Given the description of an element on the screen output the (x, y) to click on. 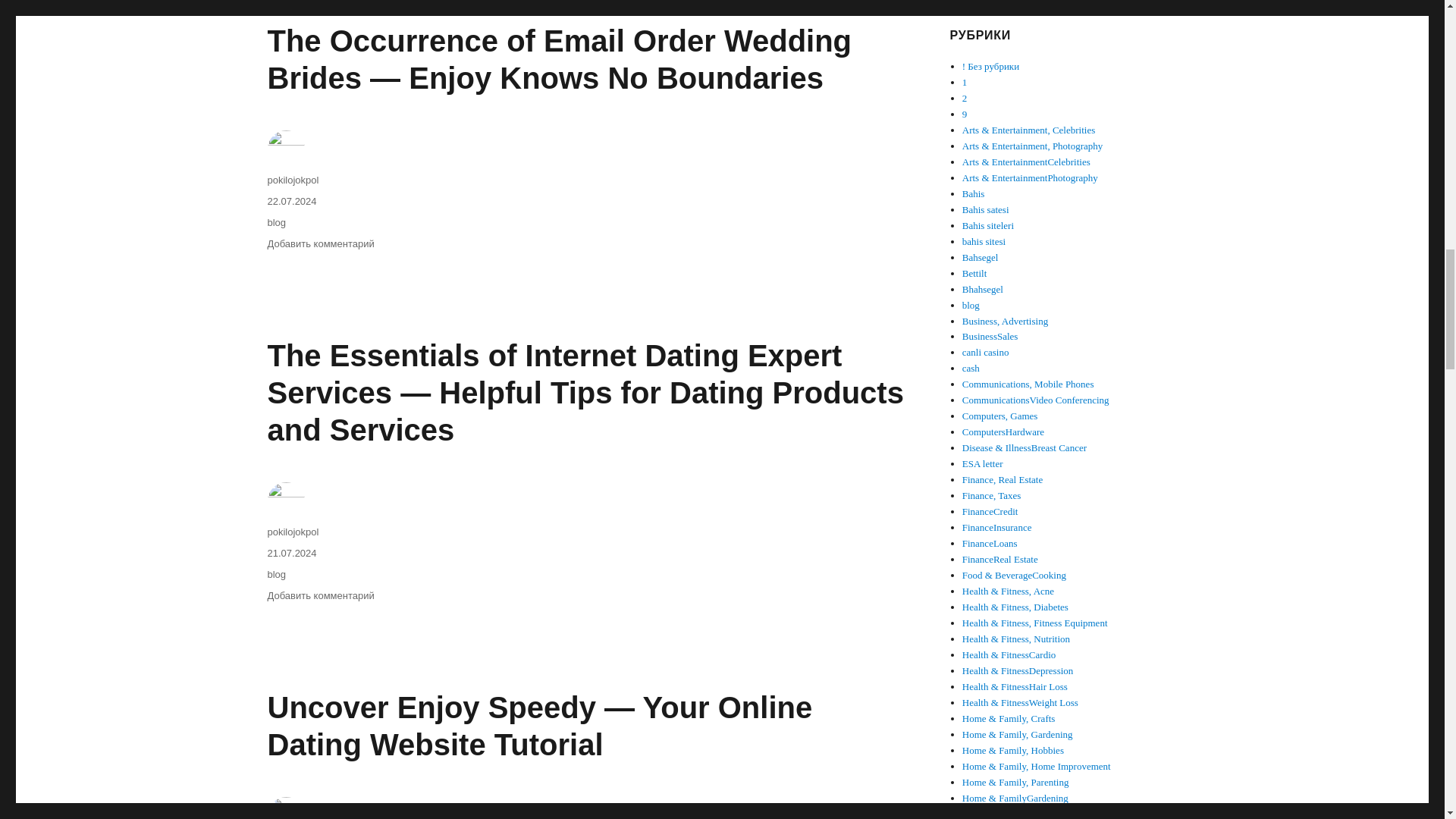
blog (275, 573)
pokilojokpol (292, 531)
21.07.2024 (290, 552)
22.07.2024 (290, 201)
blog (275, 222)
pokilojokpol (292, 179)
